Given the description of an element on the screen output the (x, y) to click on. 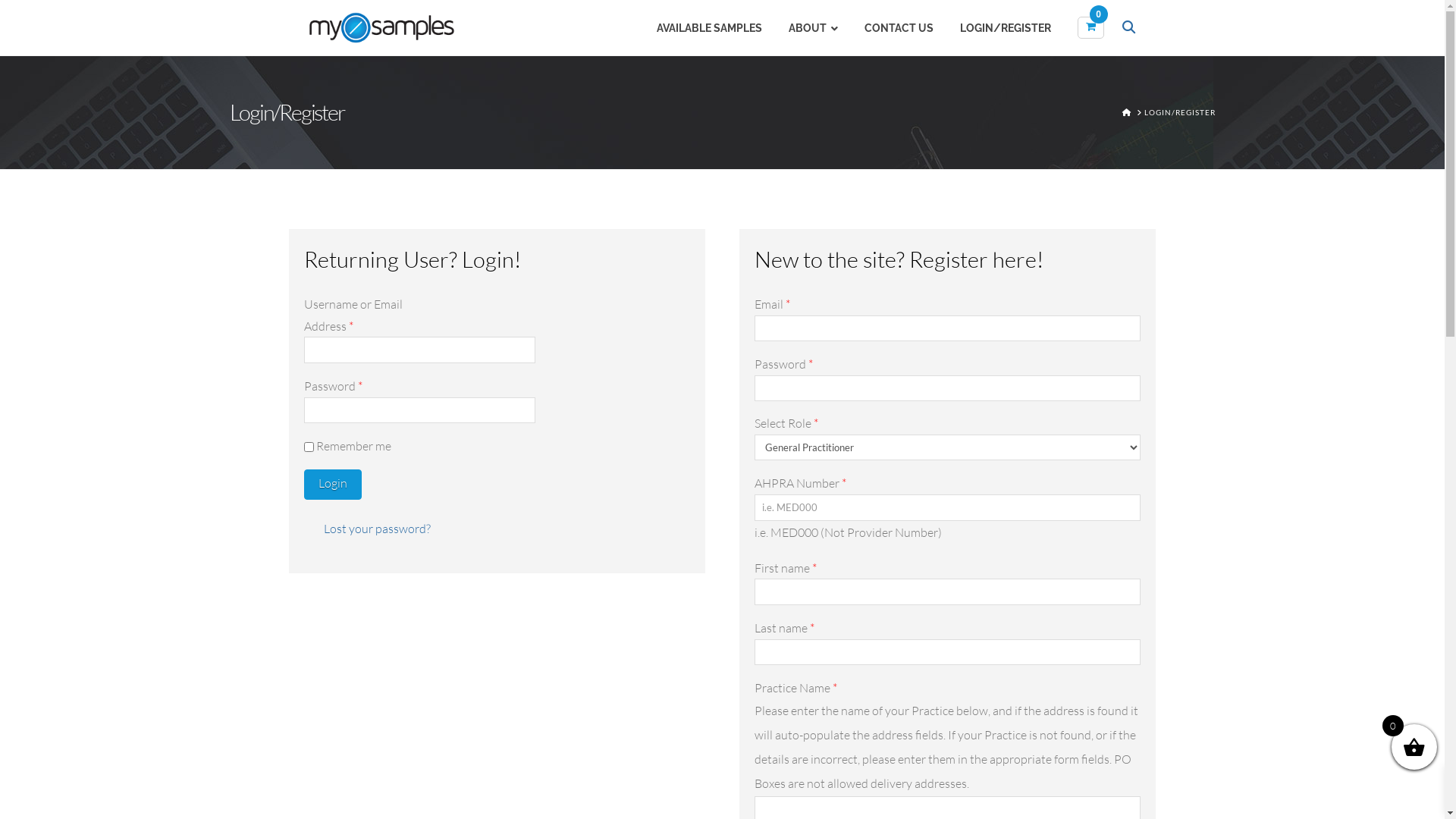
LOGIN/REGISTER Element type: text (998, 27)
ABOUT Element type: text (806, 27)
0 Items Element type: text (1089, 27)
Lost your password? Element type: text (376, 528)
HOME Element type: text (1126, 112)
AVAILABLE SAMPLES Element type: text (702, 27)
Login Element type: text (332, 484)
LOGIN/REGISTER Element type: text (1178, 112)
CONTACT US Element type: text (892, 27)
